Given the description of an element on the screen output the (x, y) to click on. 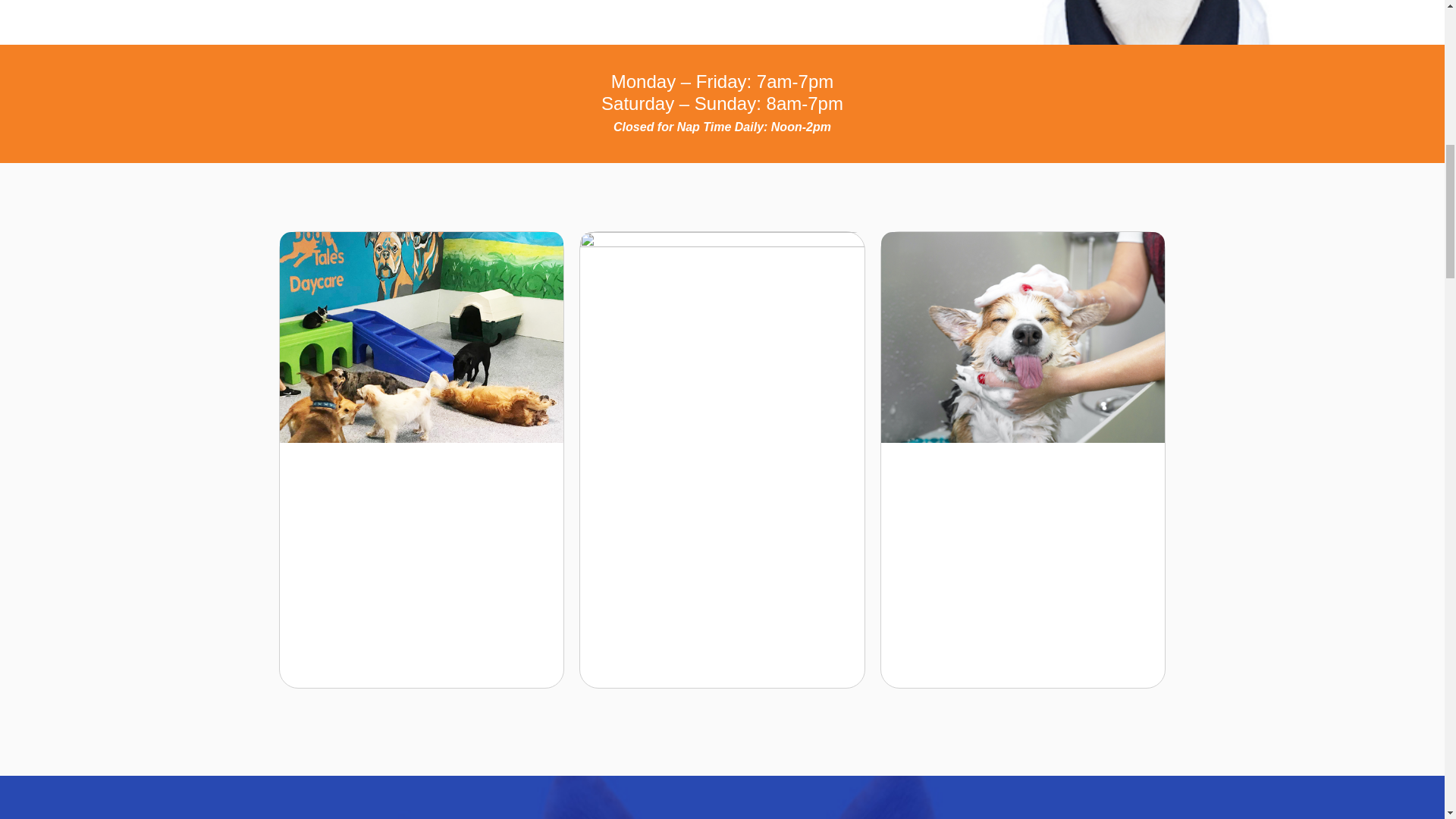
Profile,Puppy,Dog,Going,On,Vacation,Above,A,Yellow,Suitcase. (1023, 337)
Profile,Puppy,Dog,Going,On,Vacation,Above,A,Yellow,Suitcase. (421, 337)
Profile,Puppy,Dog,Going,On,Vacation,Above,A,Yellow,Suitcase. (721, 337)
